Given the description of an element on the screen output the (x, y) to click on. 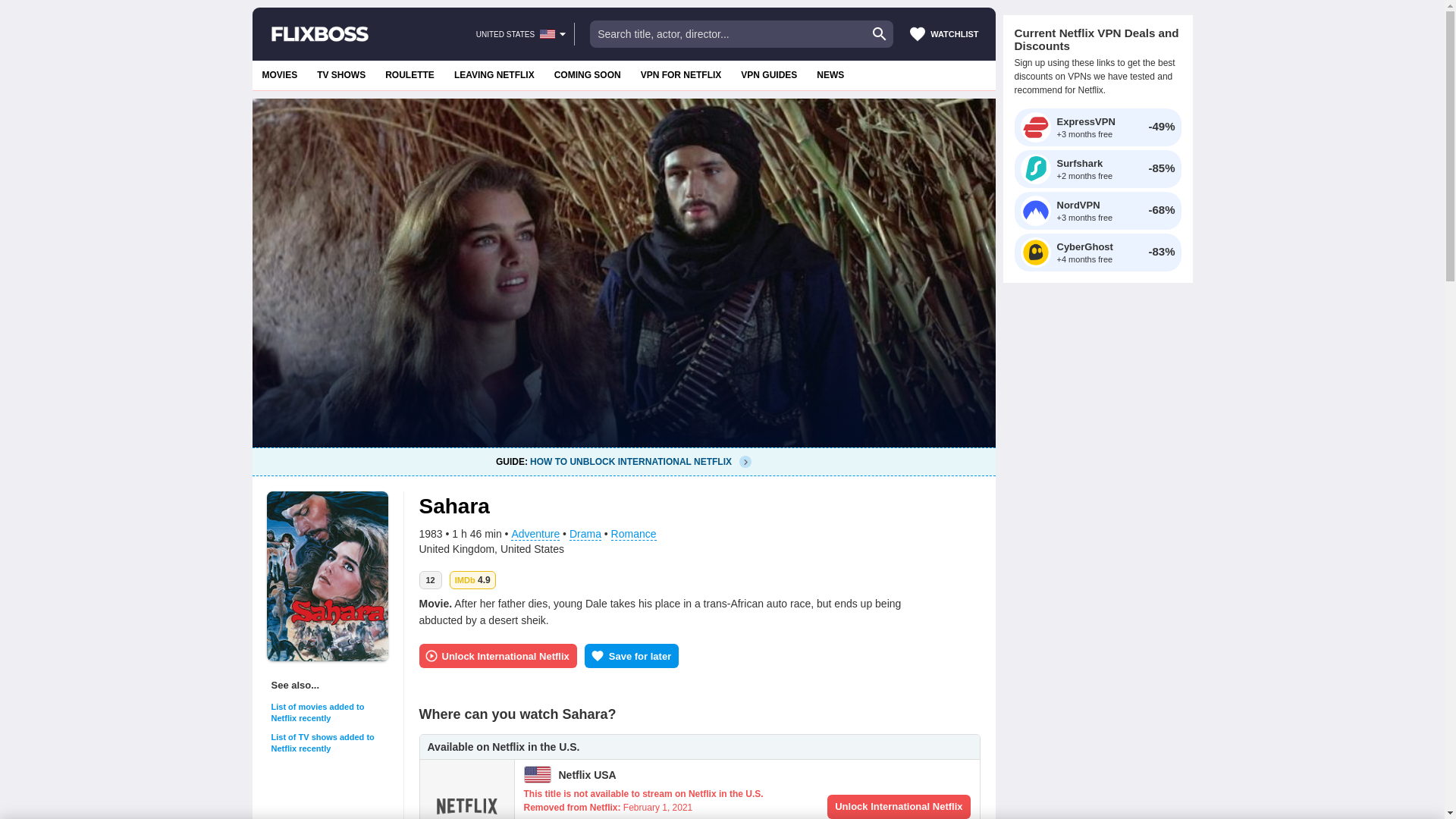
Flixboss (319, 33)
Romance (633, 533)
ROULETTE (409, 75)
WATCHLIST (944, 33)
NEWS (623, 461)
List of movies added to Netflix recently (829, 75)
Drama (329, 712)
Adventure (585, 533)
TV SHOWS (535, 533)
LEAVING NETFLIX (341, 75)
VPN GUIDES (494, 75)
VPN FOR NETFLIX (768, 75)
COMING SOON (681, 75)
MOVIES (587, 75)
